Given the description of an element on the screen output the (x, y) to click on. 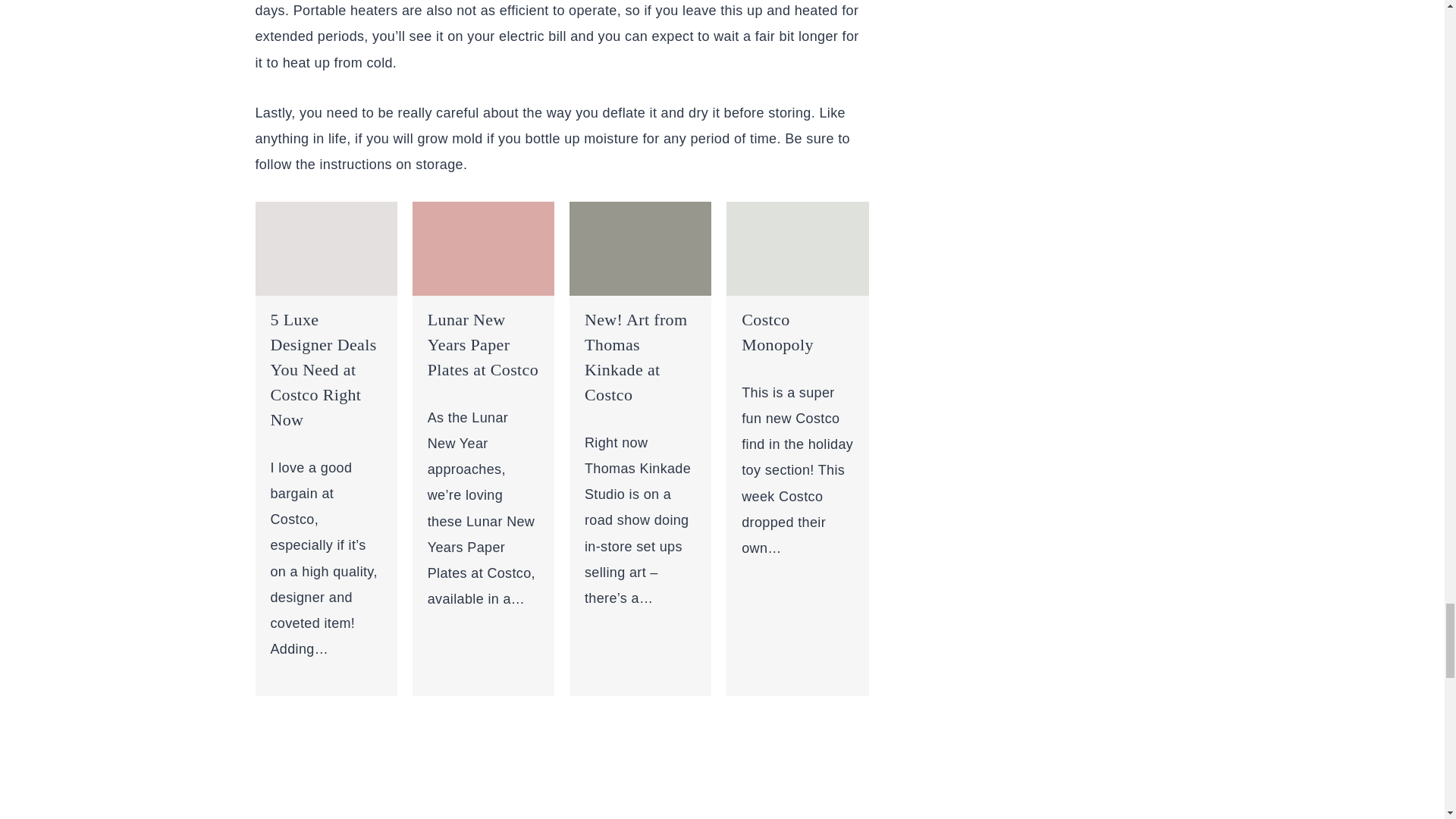
Saluspa Inflatable Hot Tub 5 (483, 248)
Saluspa Inflatable Hot Tub 4 (325, 248)
Saluspa Inflatable Hot Tub 7 (796, 248)
Saluspa Inflatable Hot Tub 6 (640, 248)
